Given the description of an element on the screen output the (x, y) to click on. 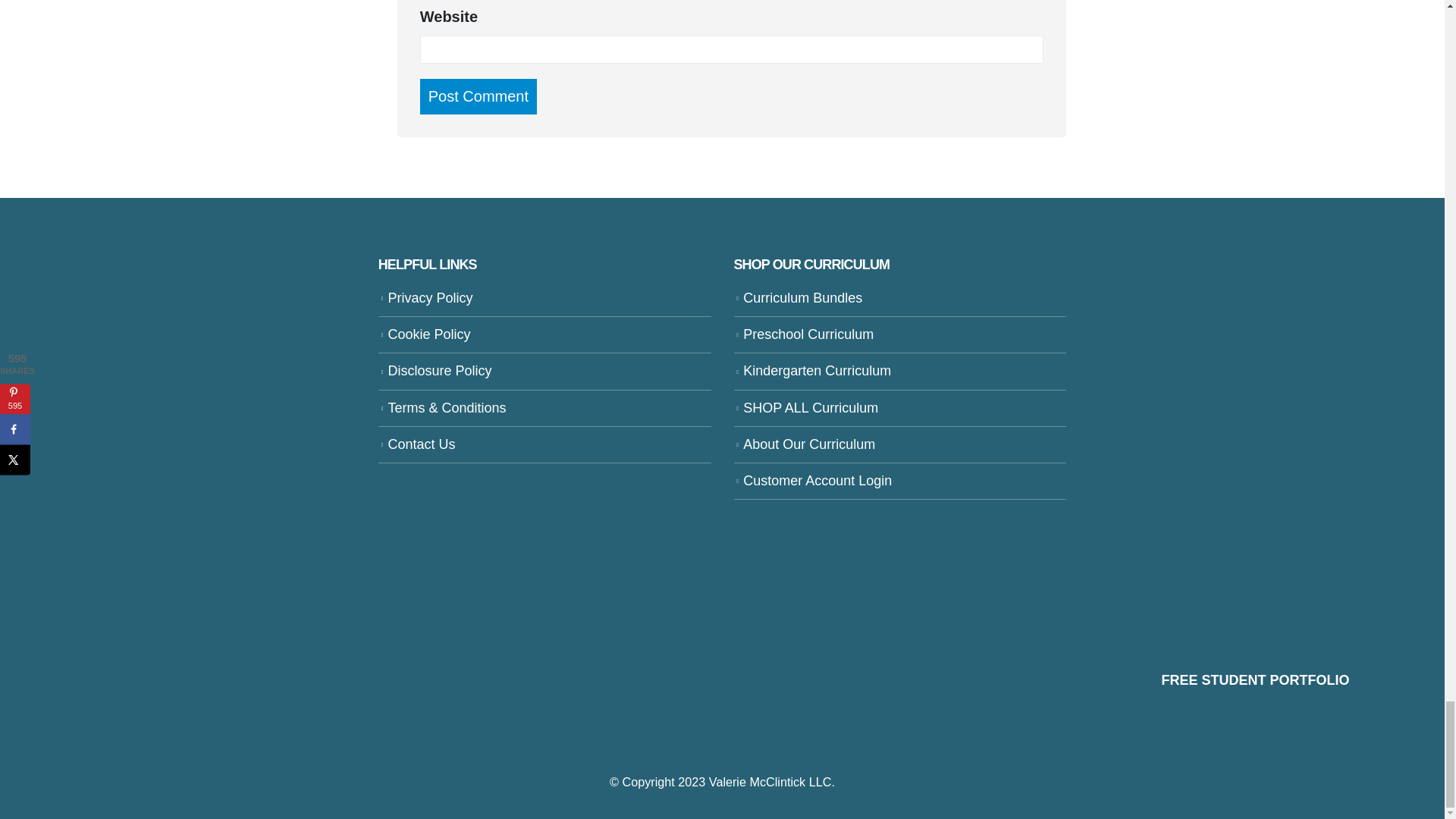
Post Comment (478, 96)
